Given the description of an element on the screen output the (x, y) to click on. 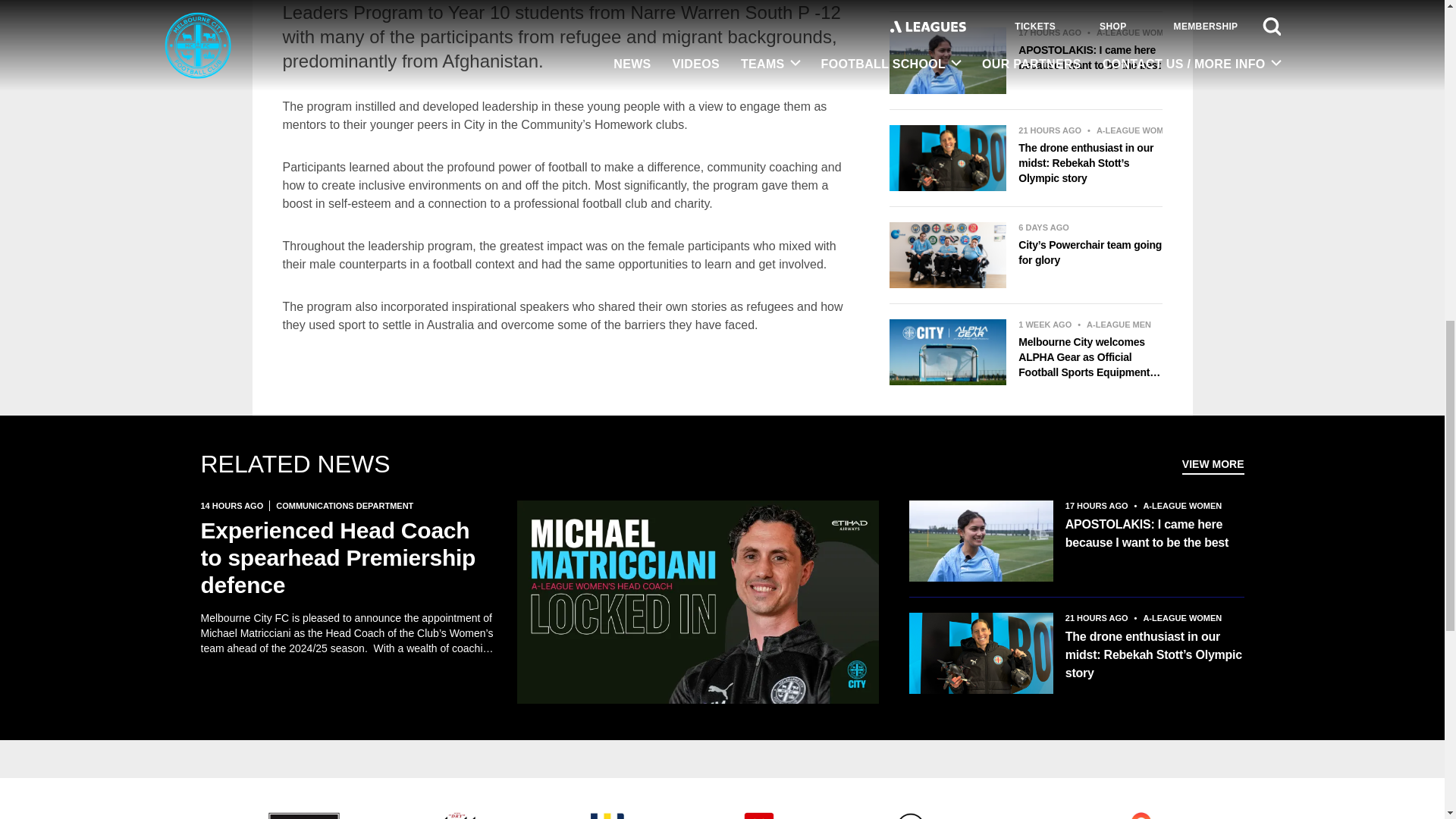
Asahi Super Dry (454, 813)
Nissan (909, 813)
Hostplus (606, 813)
Etihad Airways (303, 813)
Nostra (1025, 816)
Origin (1140, 813)
